Given the description of an element on the screen output the (x, y) to click on. 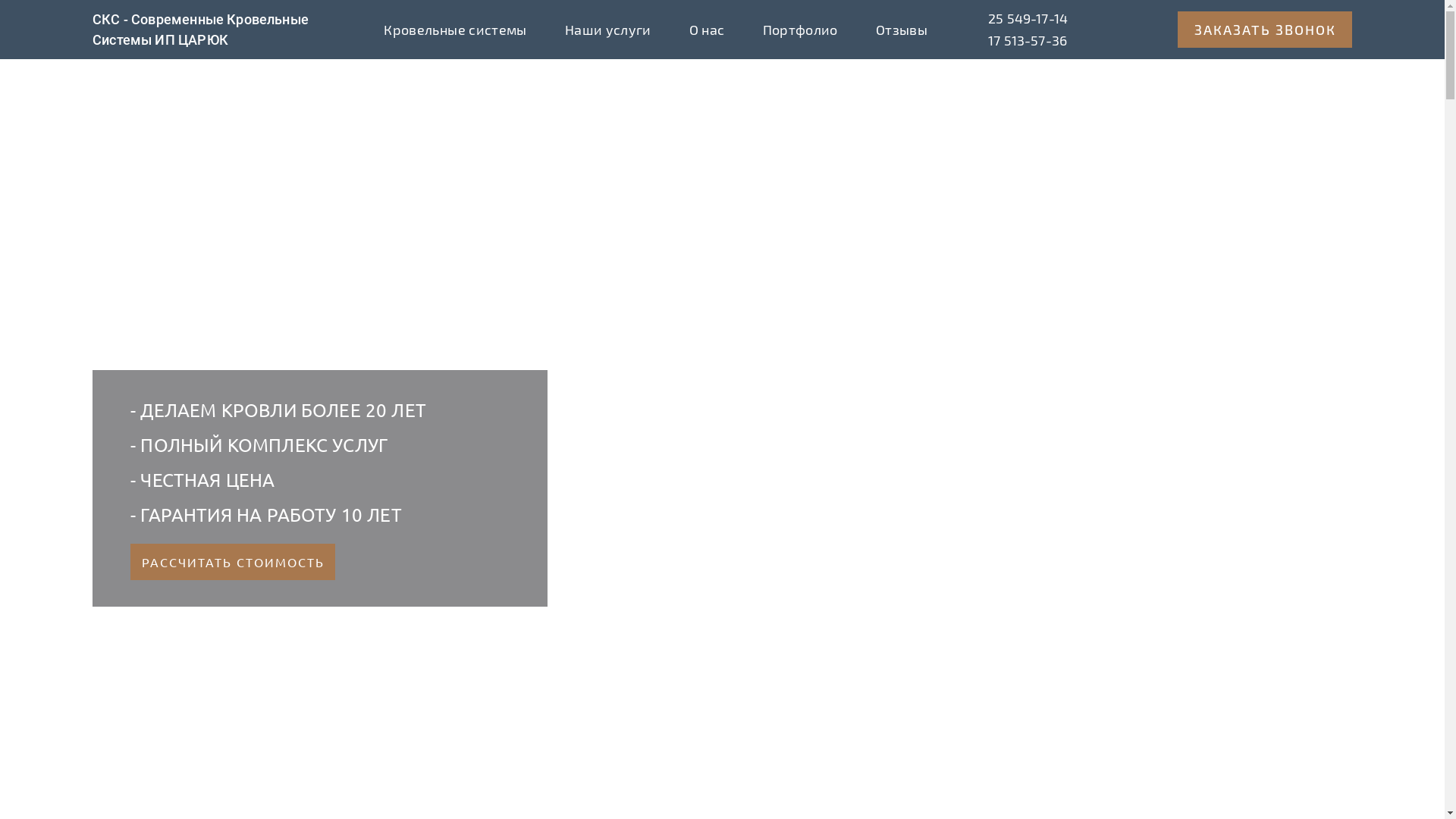
25 549-17-14 Element type: text (1027, 18)
17 513-57-36 Element type: text (1027, 40)
